Given the description of an element on the screen output the (x, y) to click on. 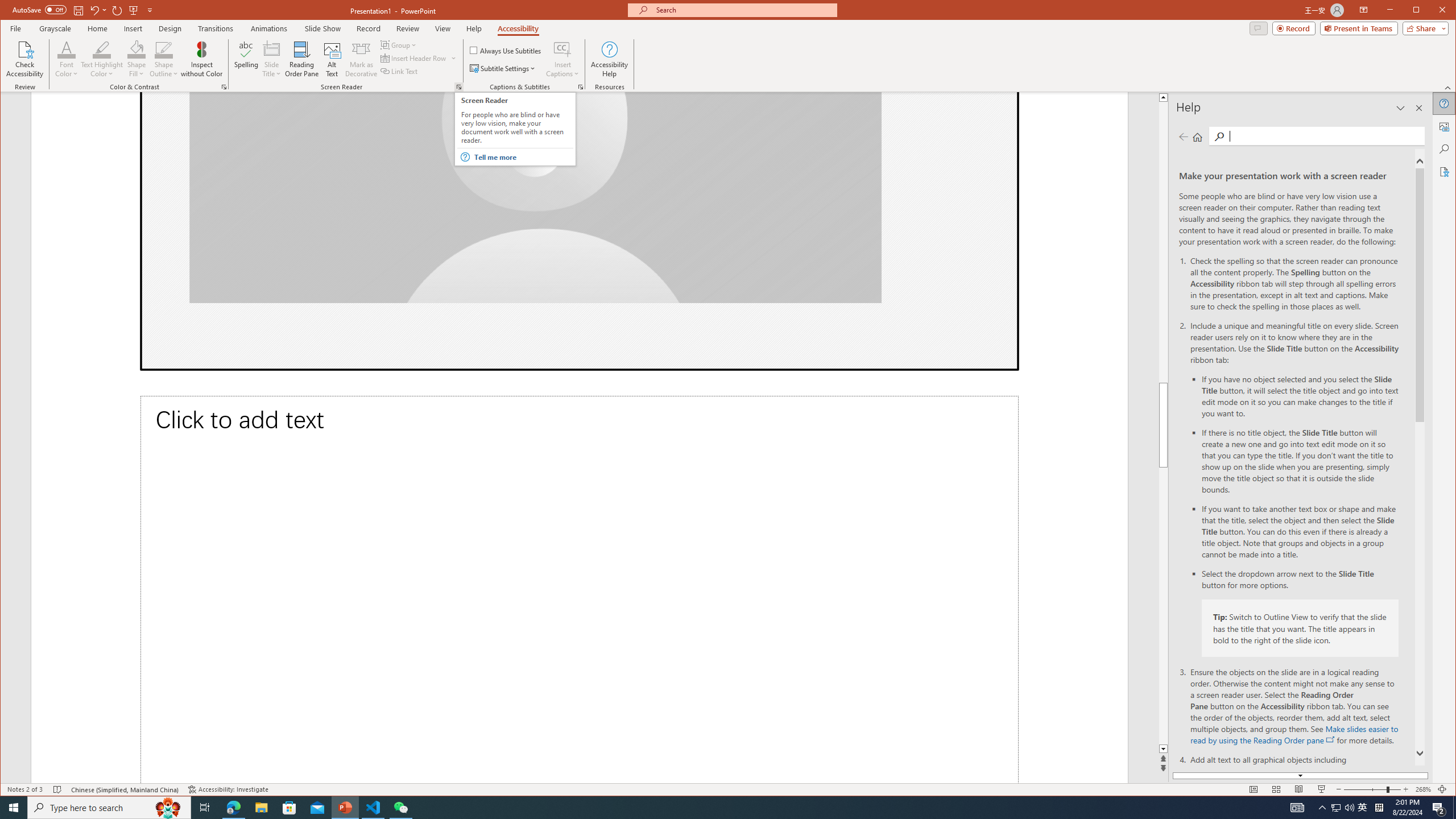
Task View (204, 807)
Show desktop (1454, 807)
Microsoft Edge - 1 running window (233, 807)
